Given the description of an element on the screen output the (x, y) to click on. 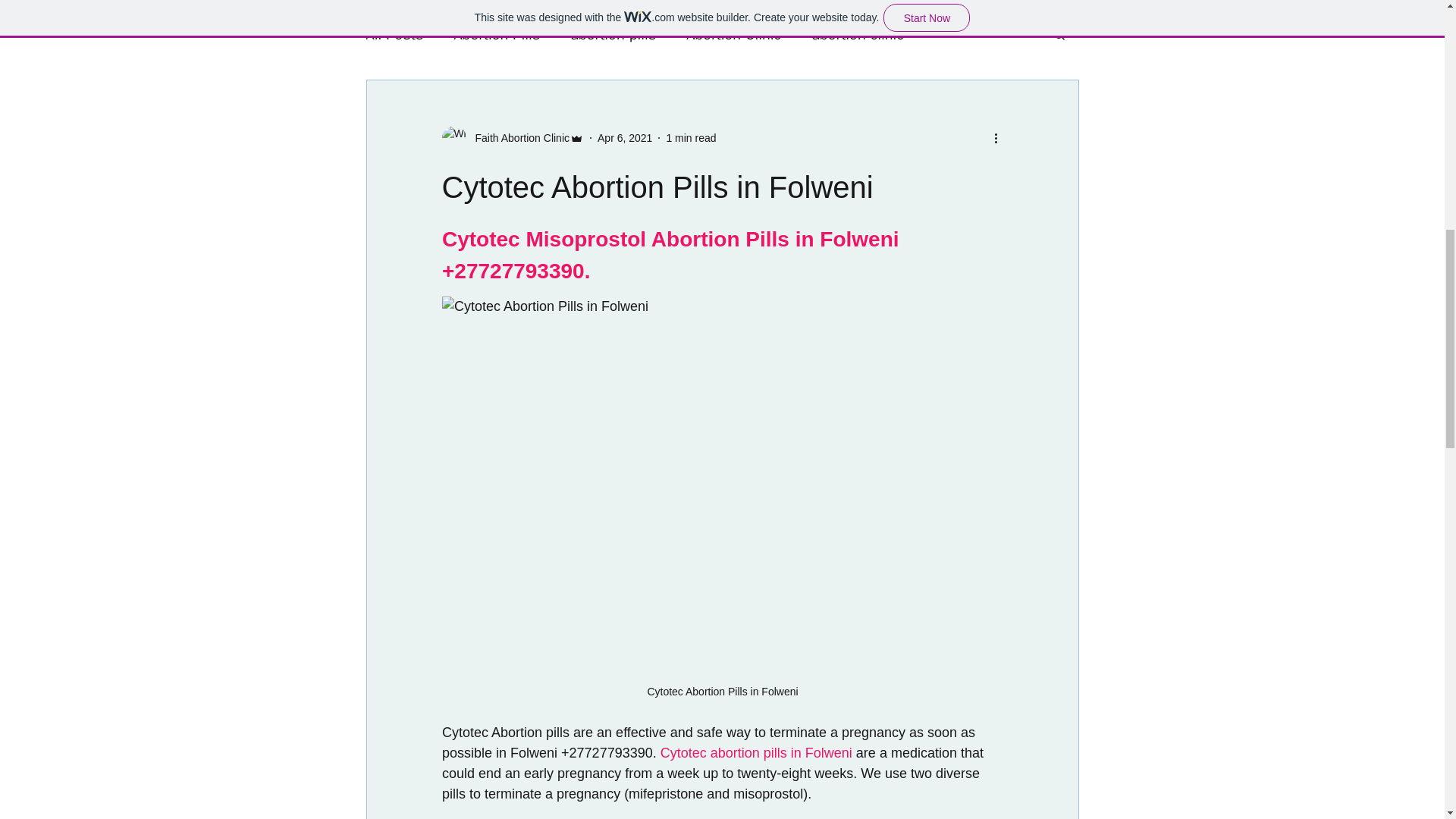
Apr 6, 2021 (624, 137)
Faith Abortion Clinic (517, 138)
1 min read (690, 137)
